Given the description of an element on the screen output the (x, y) to click on. 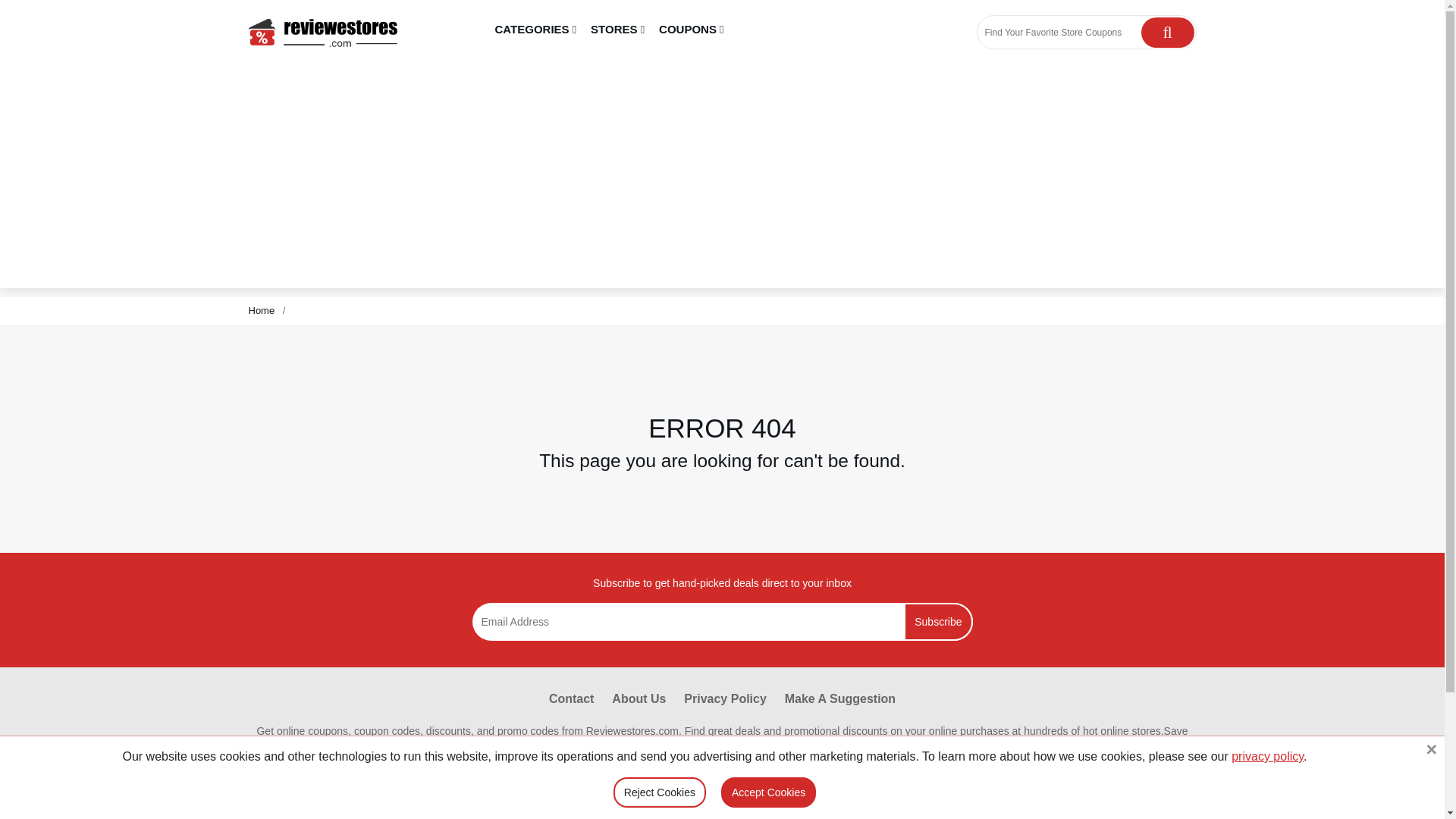
STORES (616, 29)
COUPONS (691, 29)
CATEGORIES (536, 29)
